Given the description of an element on the screen output the (x, y) to click on. 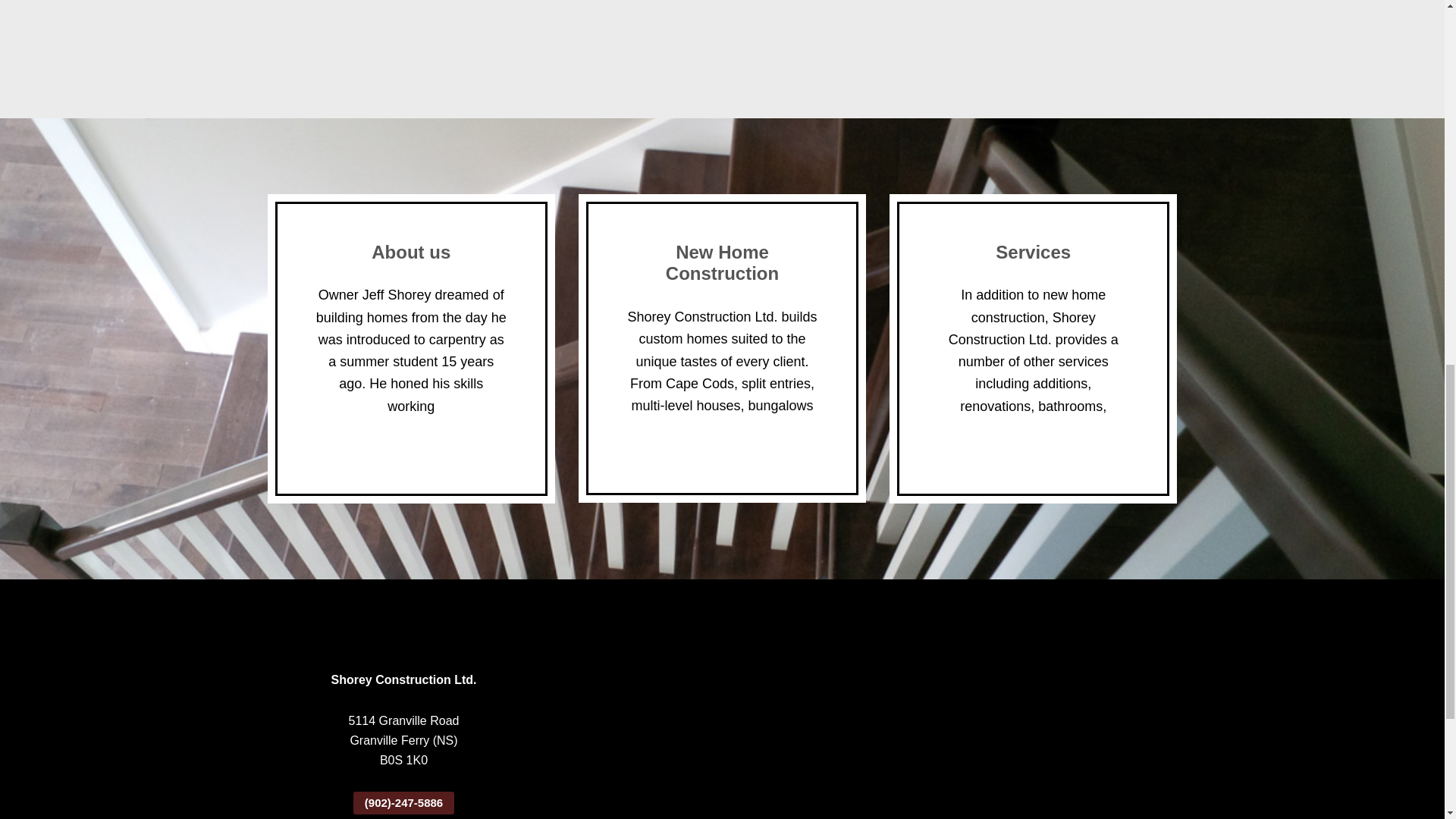
Services (1032, 251)
New Home Construction (721, 262)
About us (410, 251)
